Given the description of an element on the screen output the (x, y) to click on. 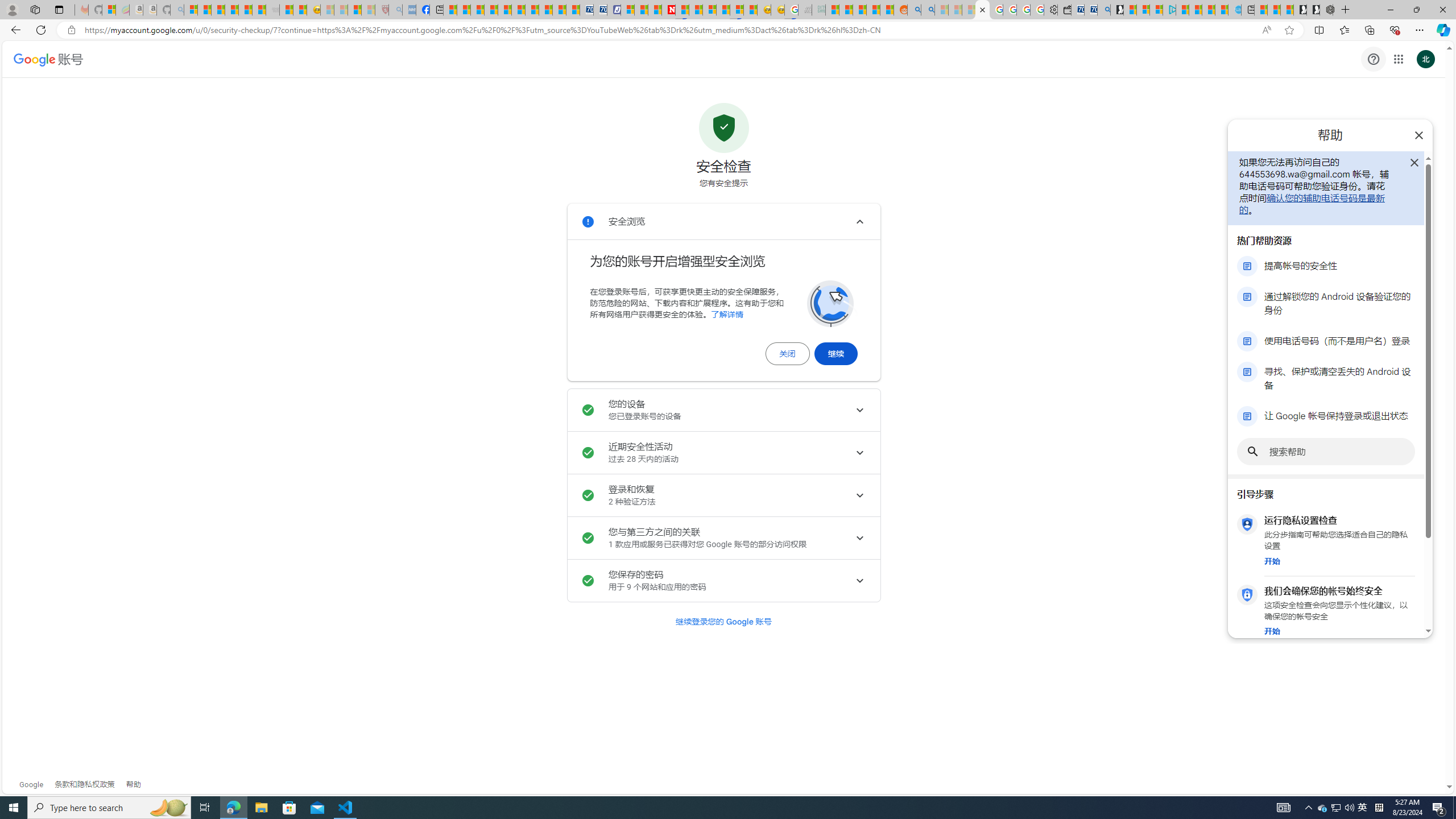
Class: gb_E (1398, 59)
Microsoft Start Gaming (1116, 9)
list of asthma inhalers uk - Search - Sleeping (395, 9)
Address and search bar (669, 29)
